Given the description of an element on the screen output the (x, y) to click on. 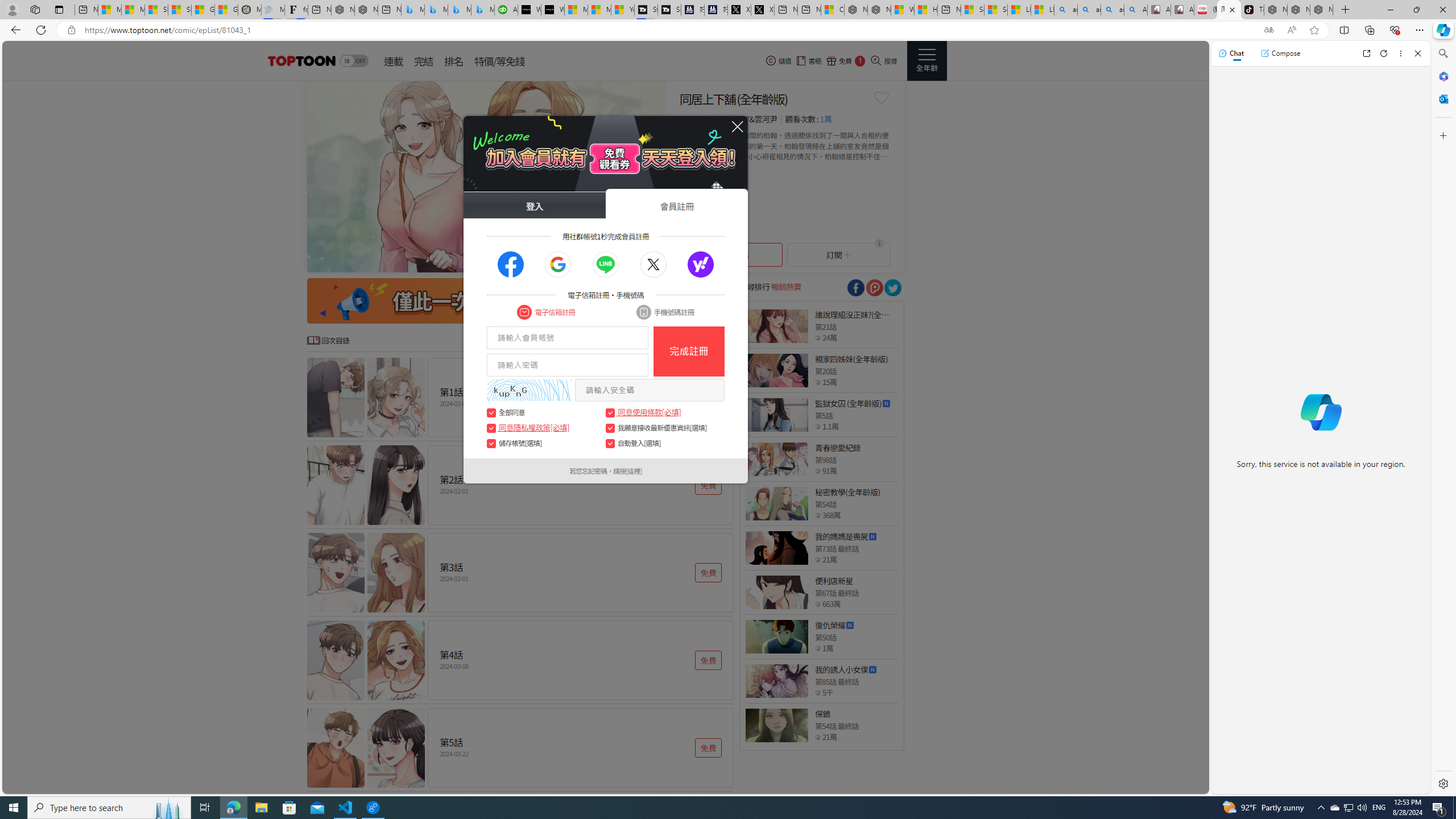
Streaming Coverage | T3 (645, 9)
Search (1442, 53)
X (761, 9)
Restore (1416, 9)
What's the best AI voice generator? - voice.ai (552, 9)
Class: side_menu_btn actionRightMenuBtn (926, 60)
